Given the description of an element on the screen output the (x, y) to click on. 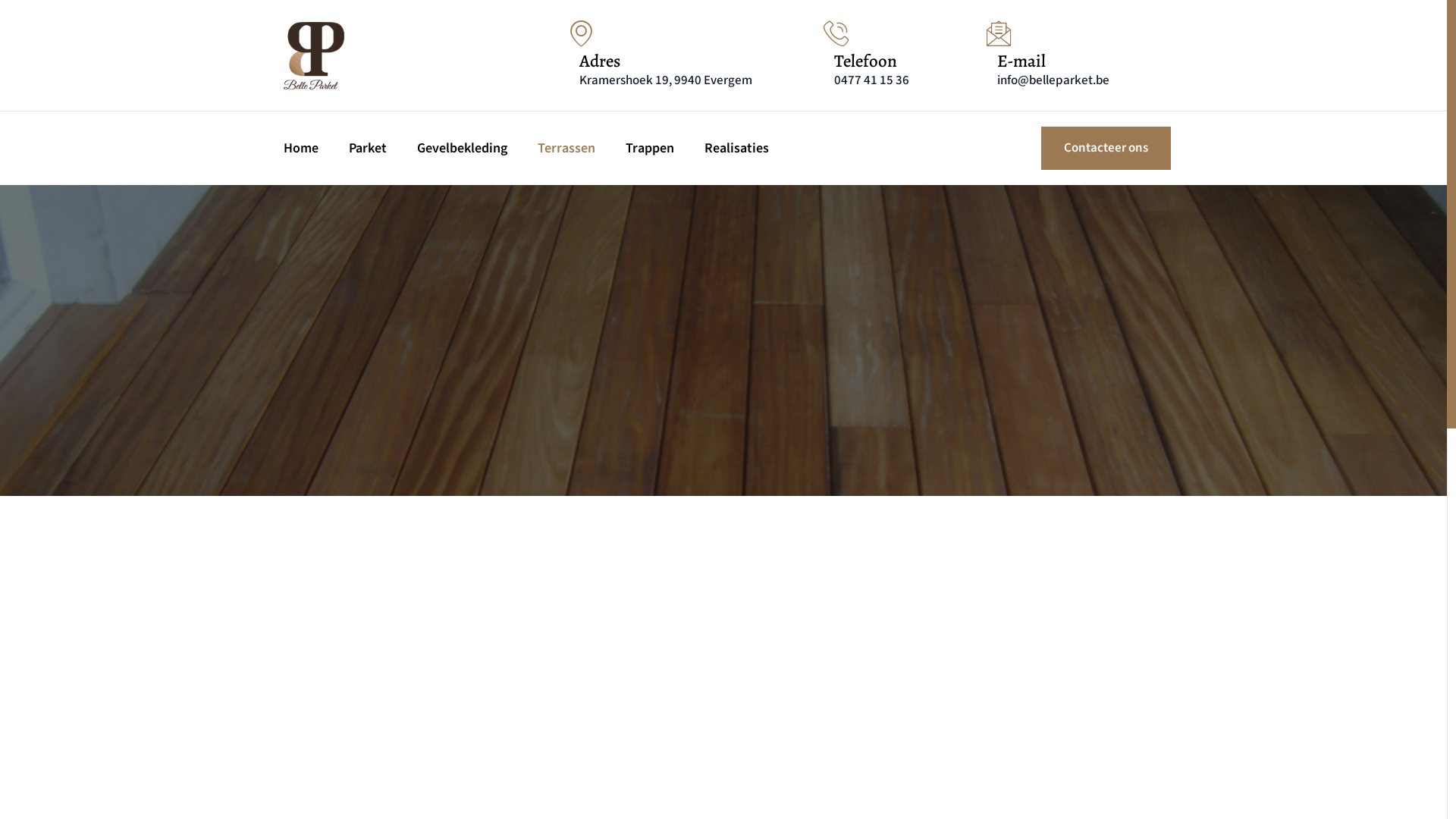
Terrassen Element type: text (566, 148)
Gevelbekleding Element type: text (461, 148)
Adres
Kramershoek 19, 9940 Evergem Element type: text (686, 54)
Trappen Element type: text (649, 148)
Home Element type: text (300, 148)
Parket Element type: text (367, 148)
Realisaties Element type: text (736, 148)
Contacteer ons Element type: text (1105, 147)
Telefoon
0477 41 15 36 Element type: text (895, 54)
E-mail
info@belleparket.be Element type: text (1077, 54)
